Given the description of an element on the screen output the (x, y) to click on. 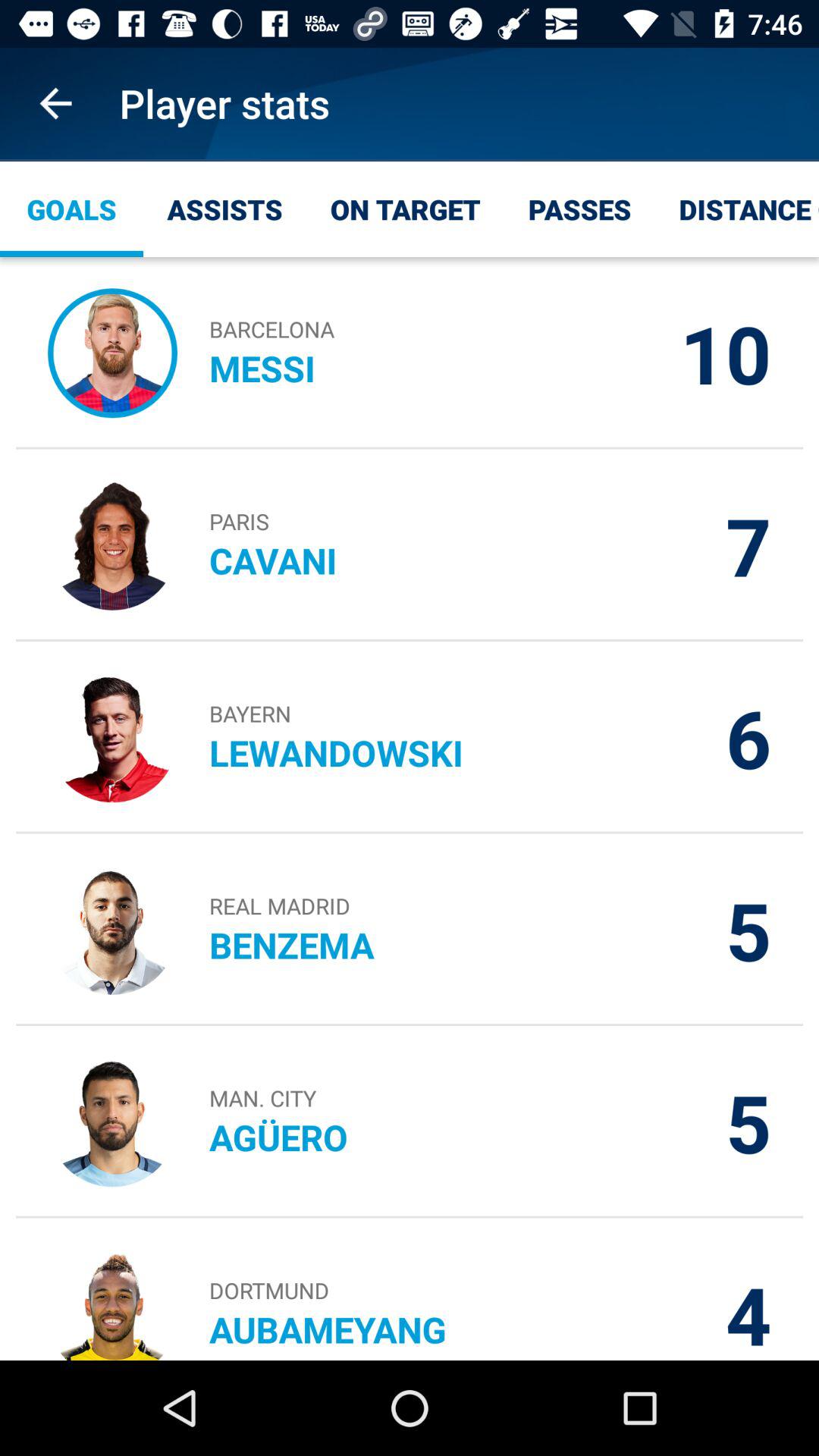
choose app to the left of the player stats item (55, 103)
